Given the description of an element on the screen output the (x, y) to click on. 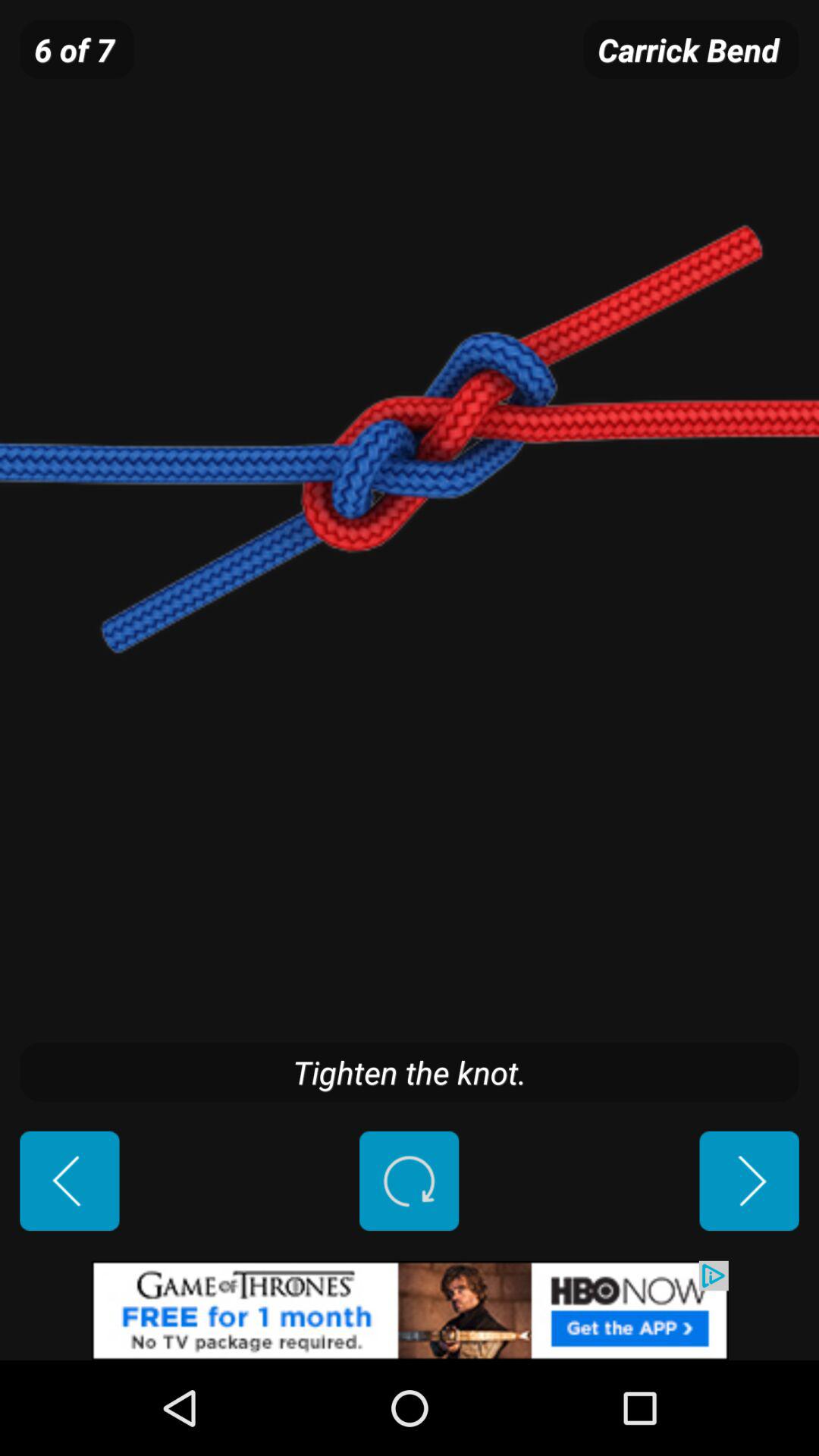
advertisement page (409, 1310)
